Given the description of an element on the screen output the (x, y) to click on. 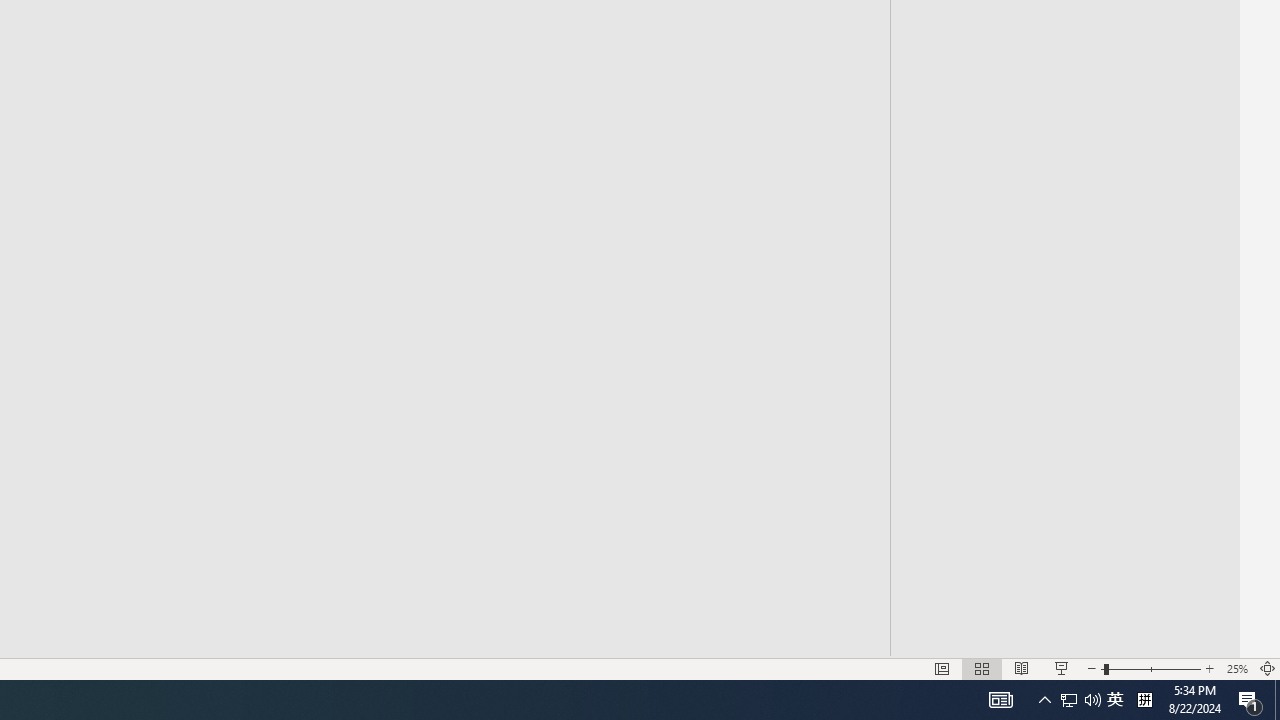
Zoom 25% (1236, 668)
